Given the description of an element on the screen output the (x, y) to click on. 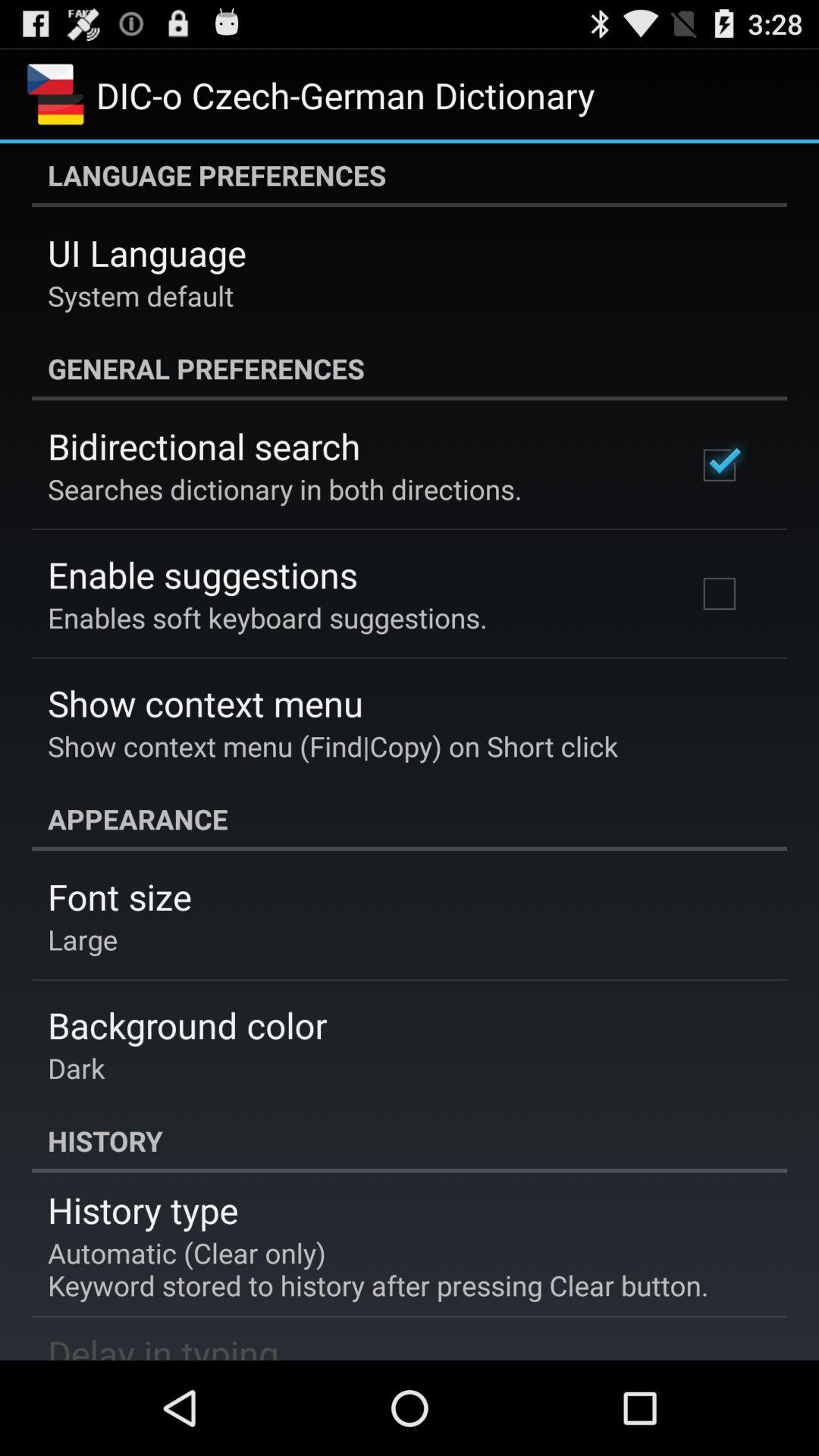
select the searches dictionary in (284, 488)
